Given the description of an element on the screen output the (x, y) to click on. 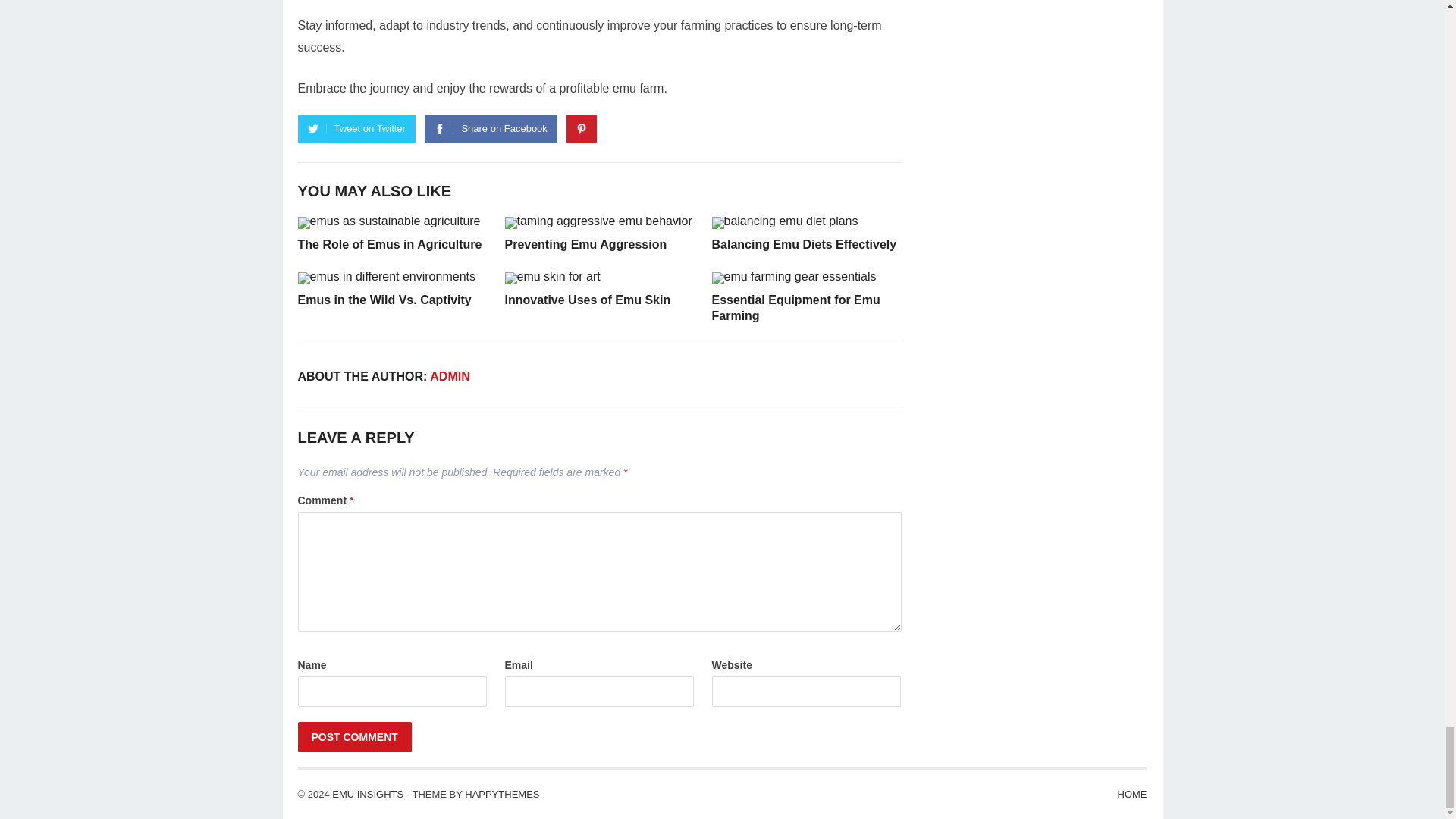
ADMIN (448, 376)
Emus in the Wild Vs. Captivity (383, 299)
Balancing Emu Diets Effectively (803, 244)
Pinterest (581, 128)
The Role of Emus in Agriculture (389, 244)
Innovative Uses of Emu Skin (588, 299)
Post Comment (353, 736)
Post Comment (353, 736)
Essential Equipment for Emu Farming (795, 307)
Preventing Emu Aggression (585, 244)
Share on Facebook (490, 128)
Tweet on Twitter (355, 128)
